Given the description of an element on the screen output the (x, y) to click on. 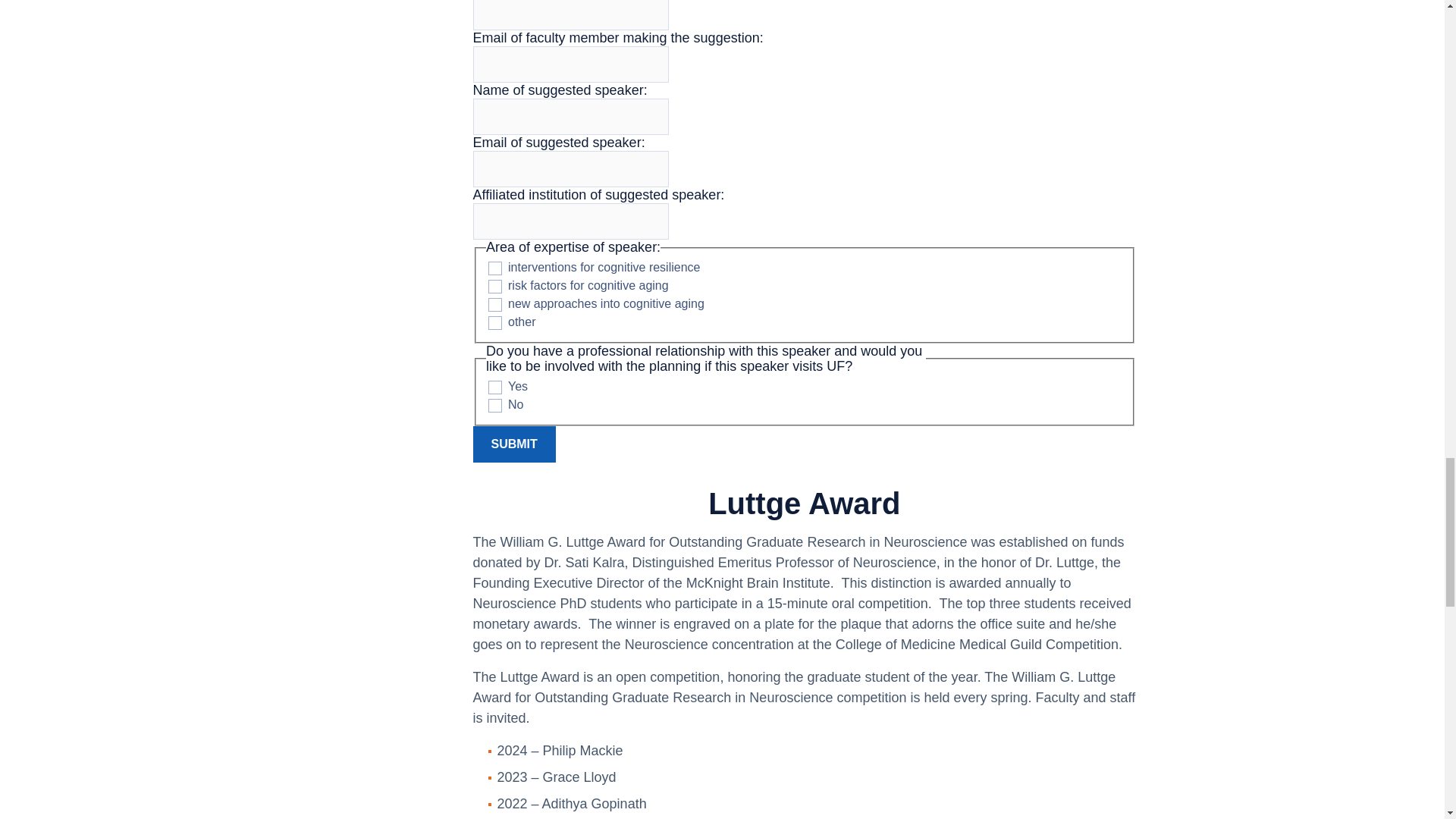
Submit (514, 443)
